Given the description of an element on the screen output the (x, y) to click on. 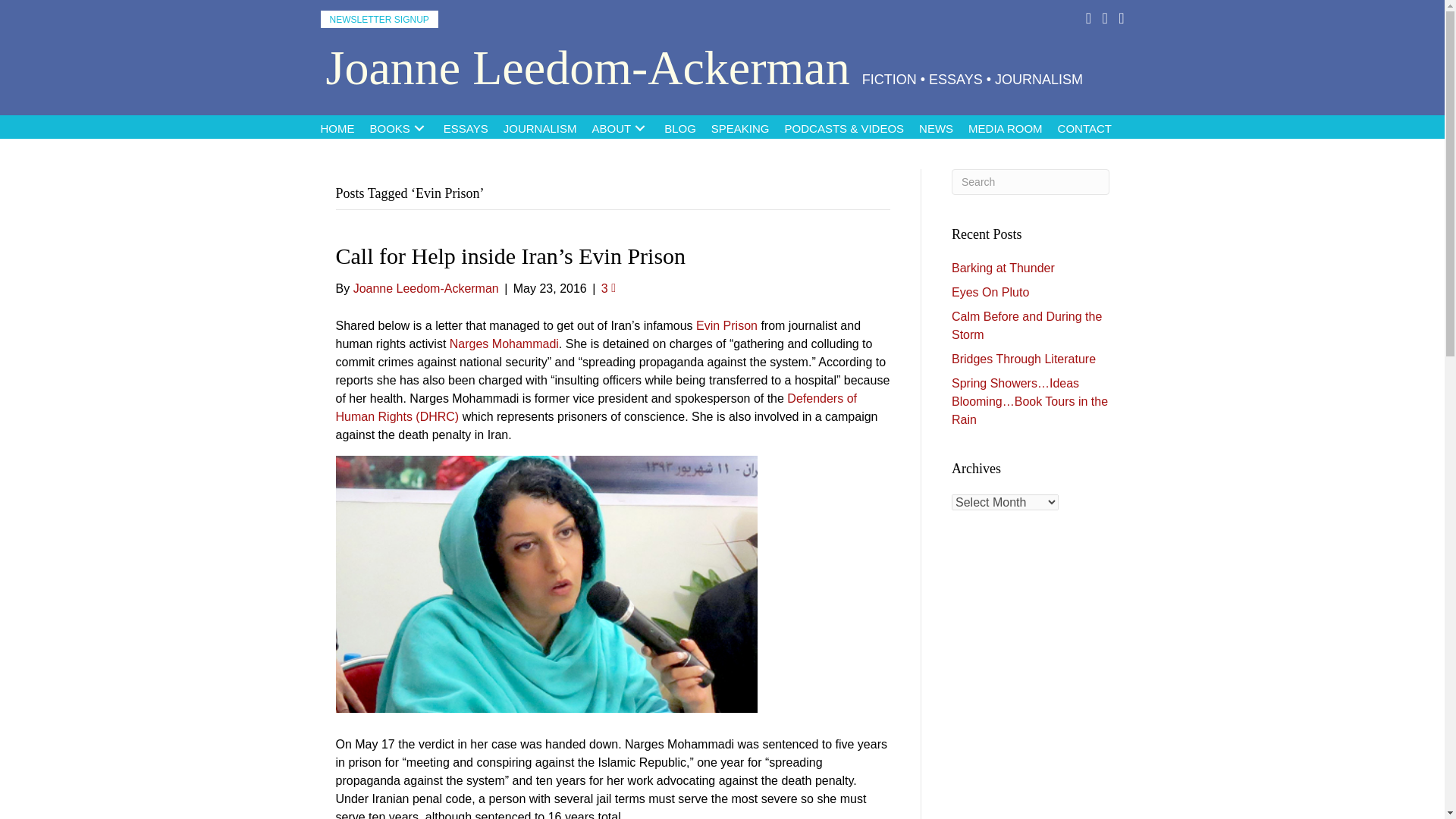
HOME (337, 127)
3 (608, 287)
NEWS (935, 127)
Narges Mohammadi (504, 343)
ABOUT (619, 127)
Evin Prison (726, 325)
NEWSLETTER SIGNUP (379, 18)
CONTACT (1084, 127)
BOOKS (398, 127)
JOURNALISM (540, 127)
